Given the description of an element on the screen output the (x, y) to click on. 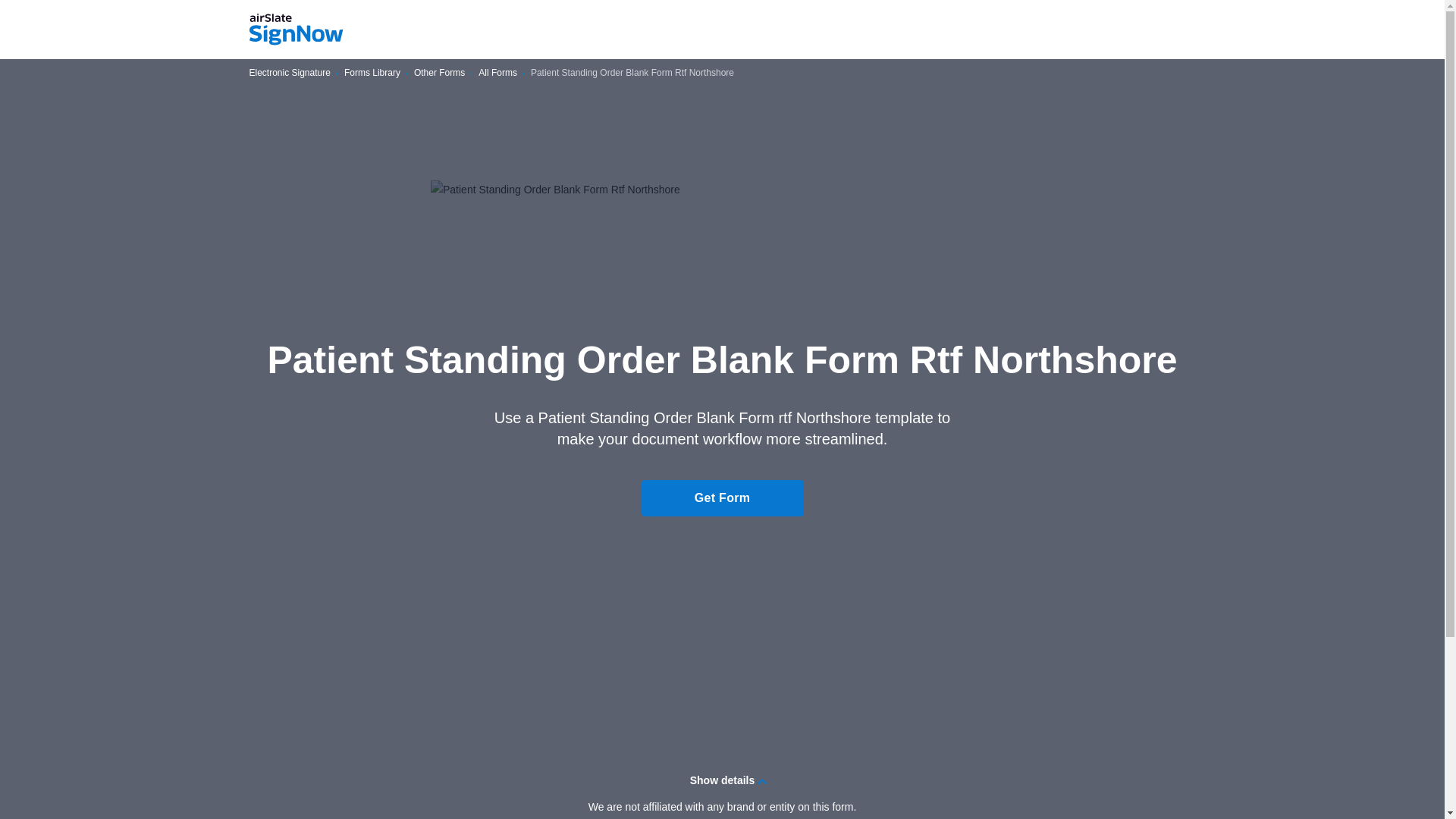
Get Form (722, 497)
Show details (722, 780)
All Forms (497, 73)
Electronic Signature (289, 73)
signNow (295, 29)
Other Forms (438, 73)
Forms Library (371, 73)
